Given the description of an element on the screen output the (x, y) to click on. 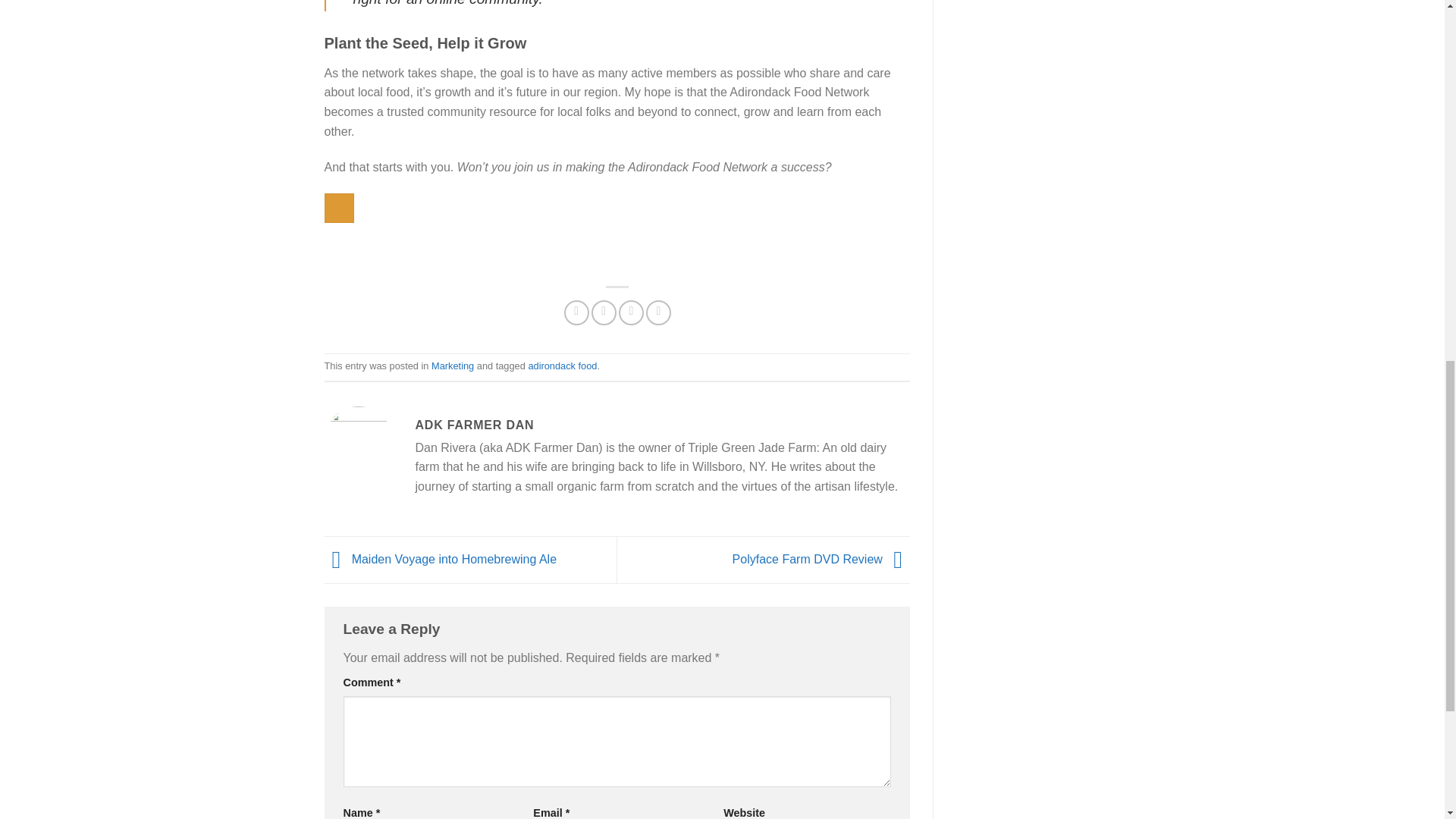
Marketing (452, 365)
Maiden Voyage into Homebrewing Ale (440, 558)
Email to a Friend (630, 312)
Share on Twitter (603, 312)
Share on Facebook (576, 312)
Polyface Farm DVD Review (821, 558)
Pin on Pinterest (658, 312)
adirondack food (561, 365)
